Given the description of an element on the screen output the (x, y) to click on. 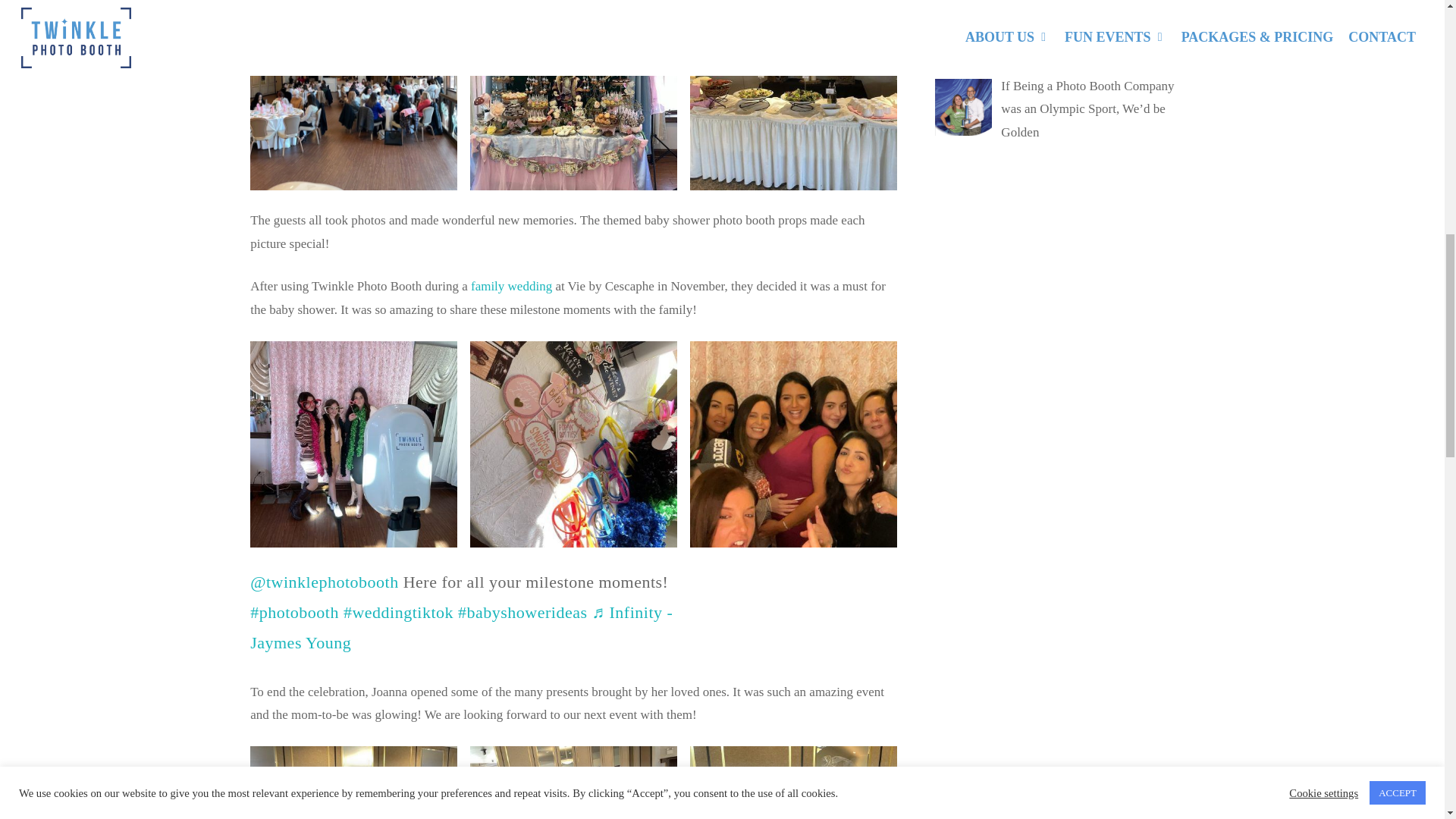
babyshowerideas (523, 611)
photobooth (294, 611)
family wedding (510, 286)
weddingtiktok (397, 611)
